Given the description of an element on the screen output the (x, y) to click on. 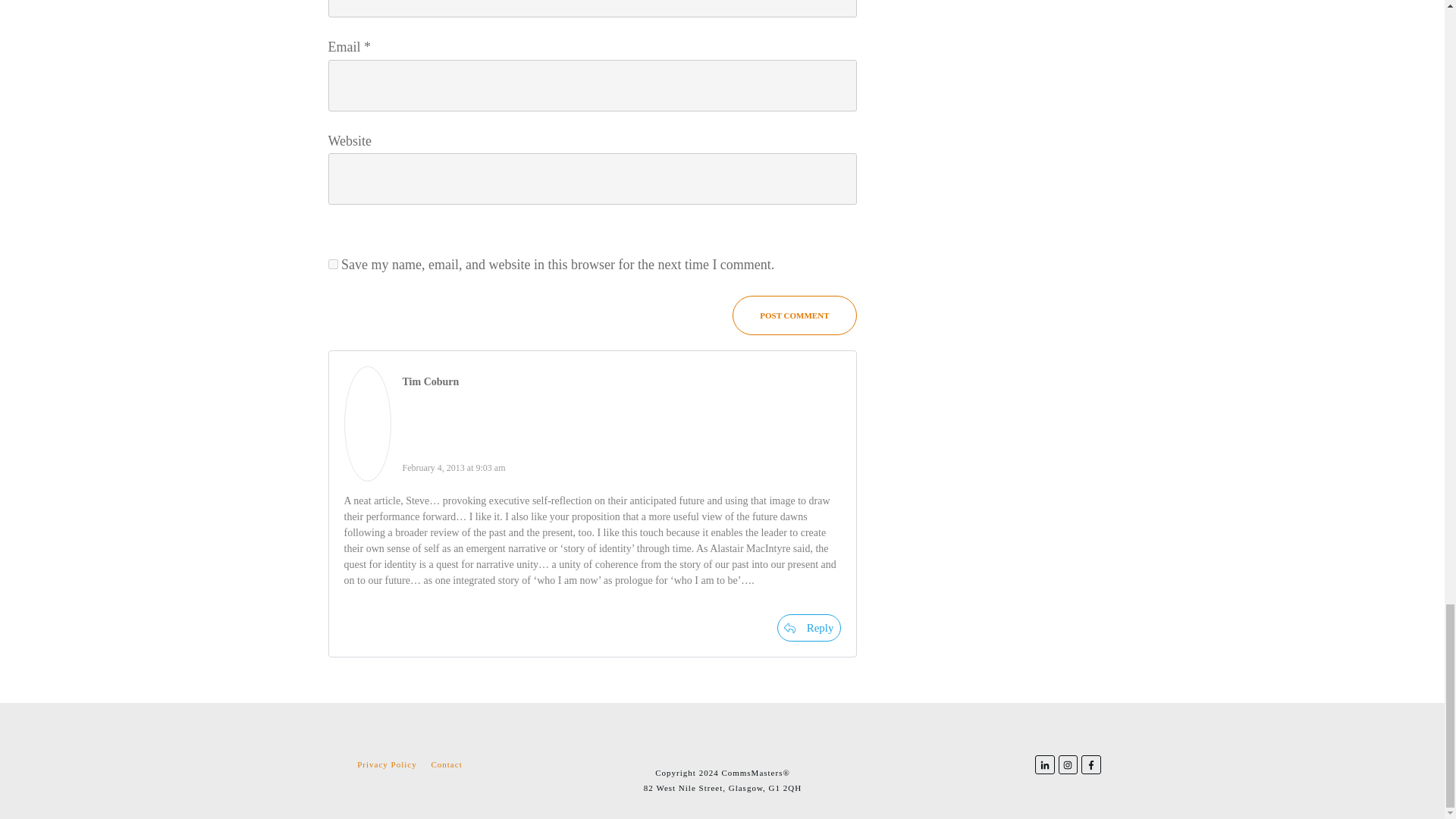
February 4, 2013 at 9:03 am (453, 467)
Reply (809, 627)
POST COMMENT (794, 314)
yes (332, 264)
Tim Coburn (429, 381)
